Given the description of an element on the screen output the (x, y) to click on. 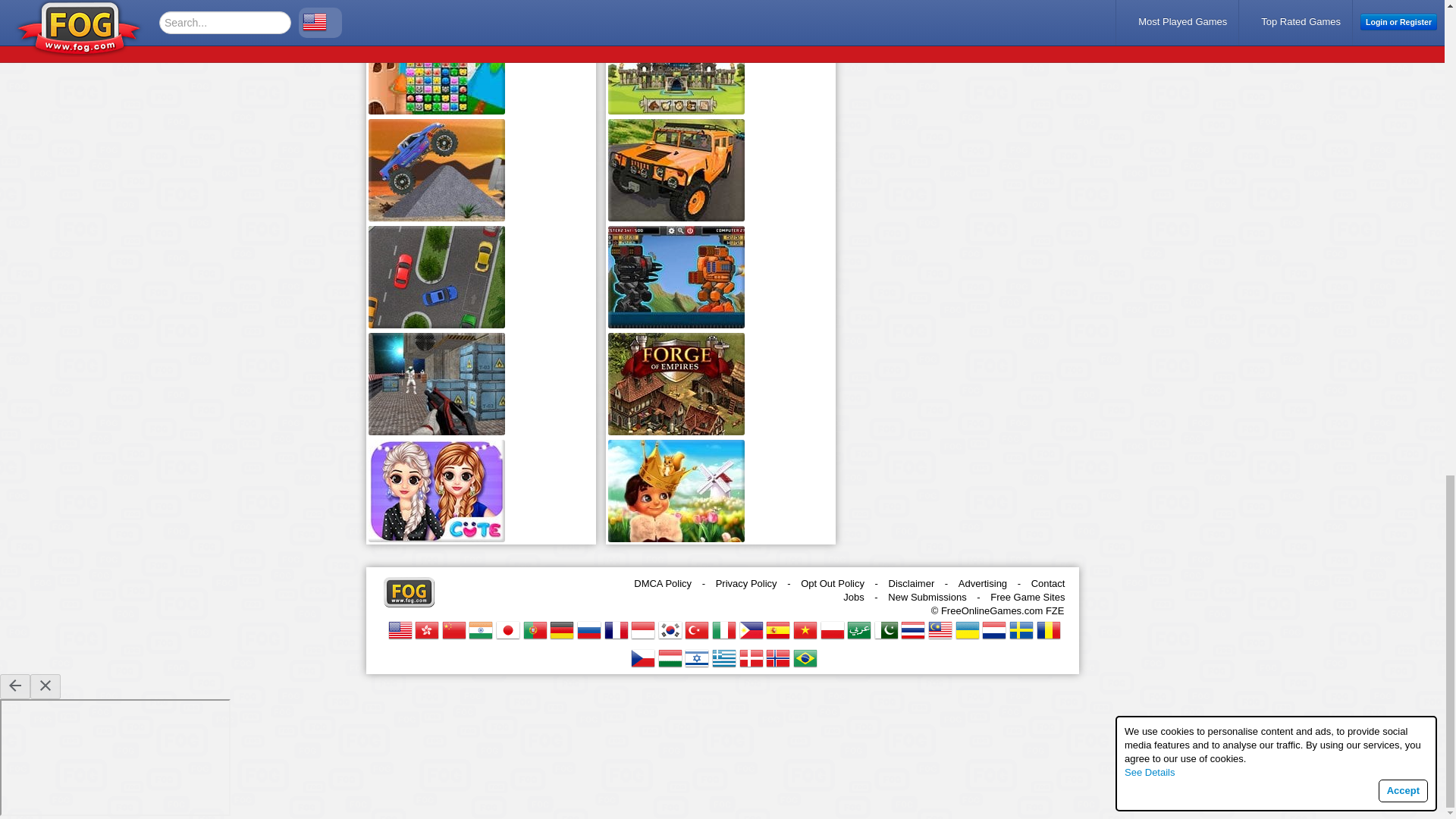
Maglaro ng Mga Laro Sa Tagalo (750, 630)
Spielen Sie Spiele auf Deutsch (561, 630)
Giochi In italiano (723, 630)
Main Game Di Indonesia (642, 630)
Play Games In English (400, 630)
